Given the description of an element on the screen output the (x, y) to click on. 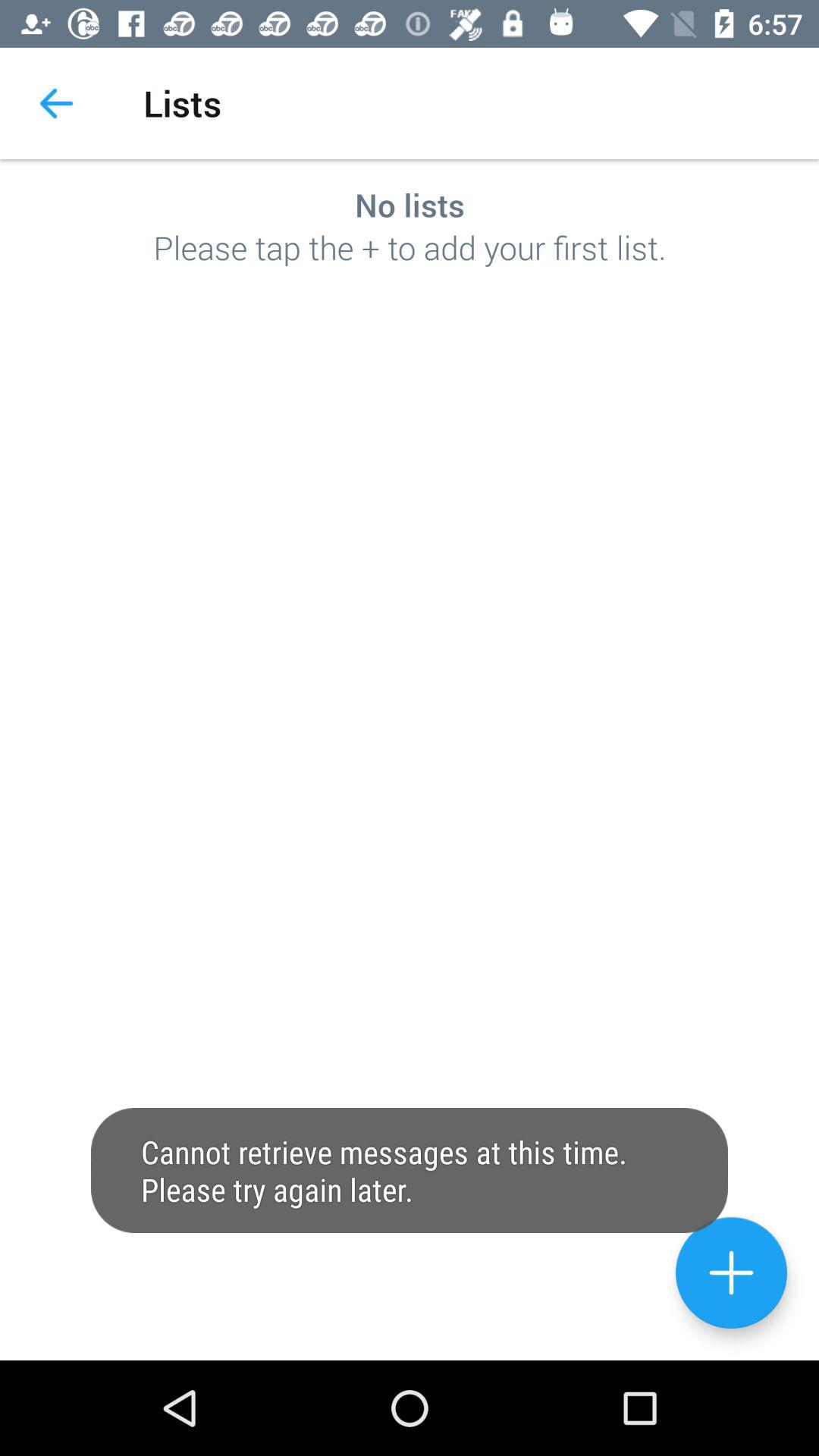
add contact (731, 1272)
